Given the description of an element on the screen output the (x, y) to click on. 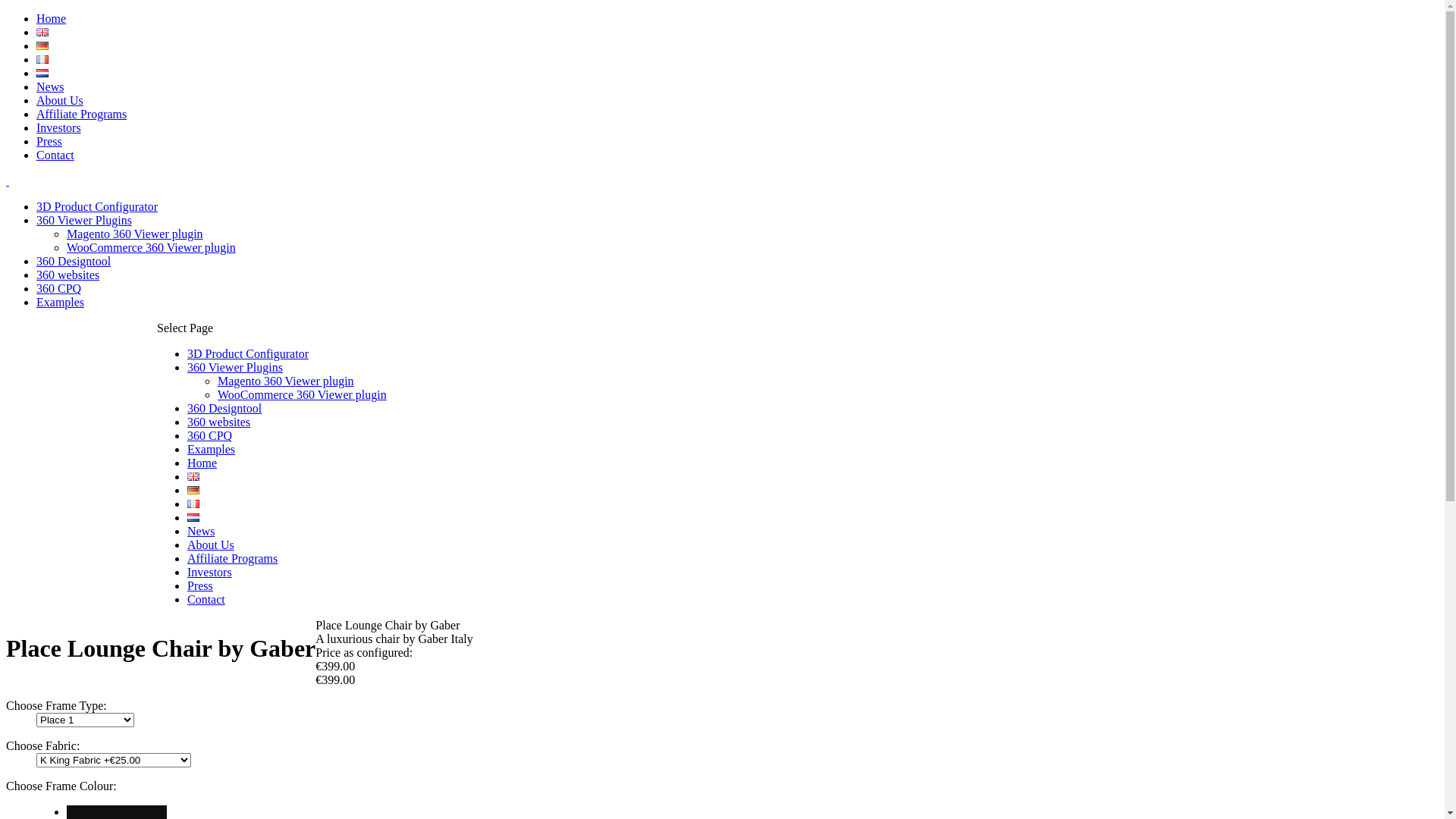
Affiliate Programs Element type: text (81, 113)
360 Viewer Plugins Element type: text (234, 366)
  Element type: text (116, 811)
News Element type: text (200, 530)
Investors Element type: text (58, 127)
3D Product Configurator Element type: text (96, 206)
Home Element type: text (201, 462)
360 Designtool Element type: text (73, 260)
About Us Element type: text (59, 100)
Affiliate Programs Element type: text (232, 558)
English Element type: hover (42, 32)
Contact Element type: text (206, 599)
WooCommerce 360 Viewer plugin Element type: text (150, 247)
360 CPQ Element type: text (209, 435)
Examples Element type: text (60, 301)
3D Product Configurator Element type: text (247, 353)
WooCommerce 360 Viewer plugin Element type: text (301, 394)
360 websites Element type: text (218, 421)
Press Element type: text (49, 140)
Investors Element type: text (209, 571)
360 websites Element type: text (67, 274)
Press Element type: text (200, 585)
About Us Element type: text (210, 544)
Nederlands Element type: hover (42, 73)
360 Viewer Plugins Element type: text (83, 219)
Magento 360 Viewer plugin Element type: text (134, 233)
360 CPQ Element type: text (58, 288)
Home Element type: text (50, 18)
Magento 360 Viewer plugin Element type: text (285, 380)
News Element type: text (49, 86)
Examples Element type: text (211, 448)
Deutsch Element type: hover (42, 45)
Contact Element type: text (55, 154)
360 Designtool Element type: text (224, 407)
